Given the description of an element on the screen output the (x, y) to click on. 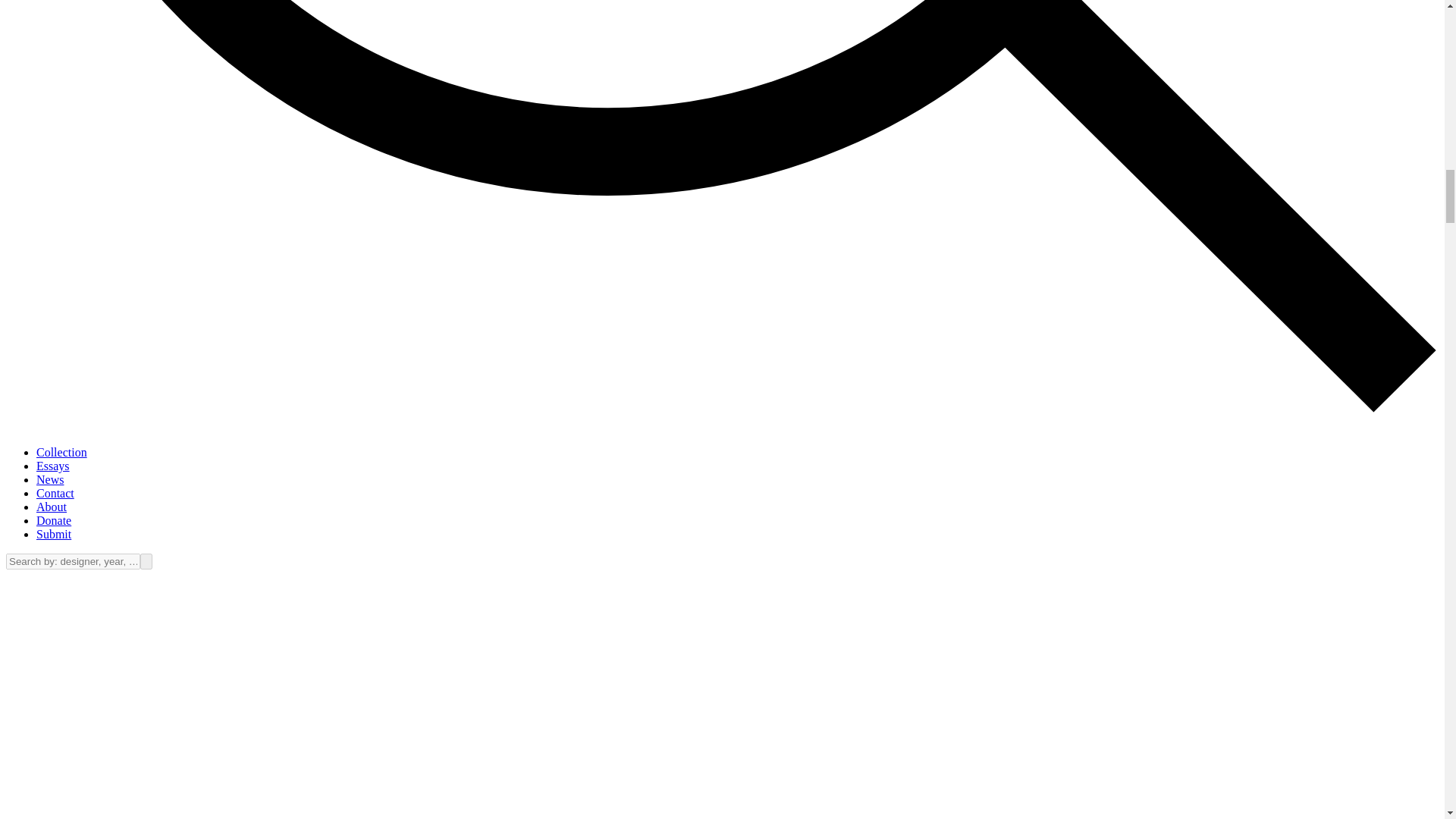
Submit (53, 533)
About (51, 506)
Essays (52, 465)
Collection (61, 451)
Donate (53, 520)
News (50, 479)
Contact (55, 492)
